Given the description of an element on the screen output the (x, y) to click on. 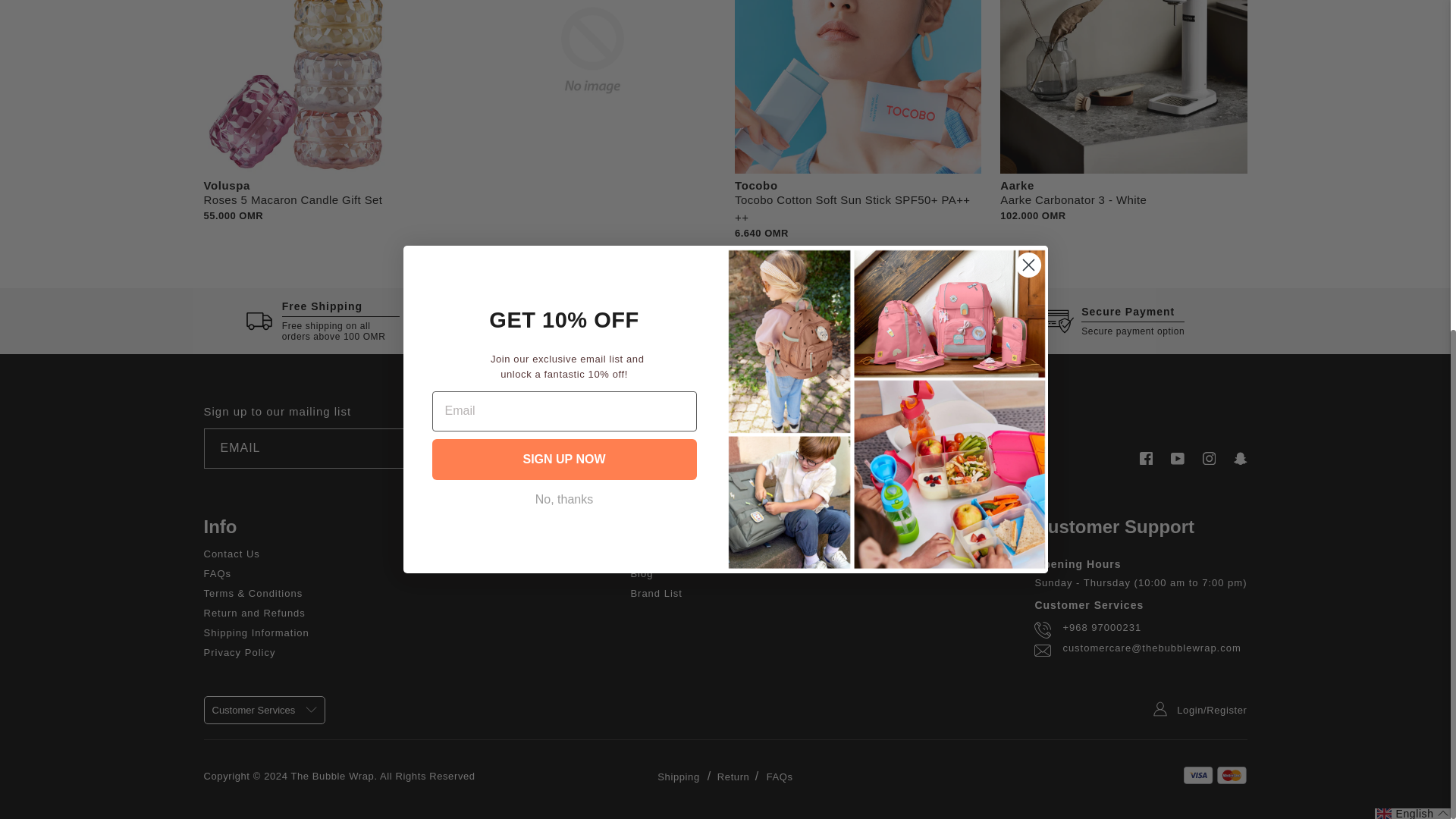
Sign up (541, 447)
